Given the description of an element on the screen output the (x, y) to click on. 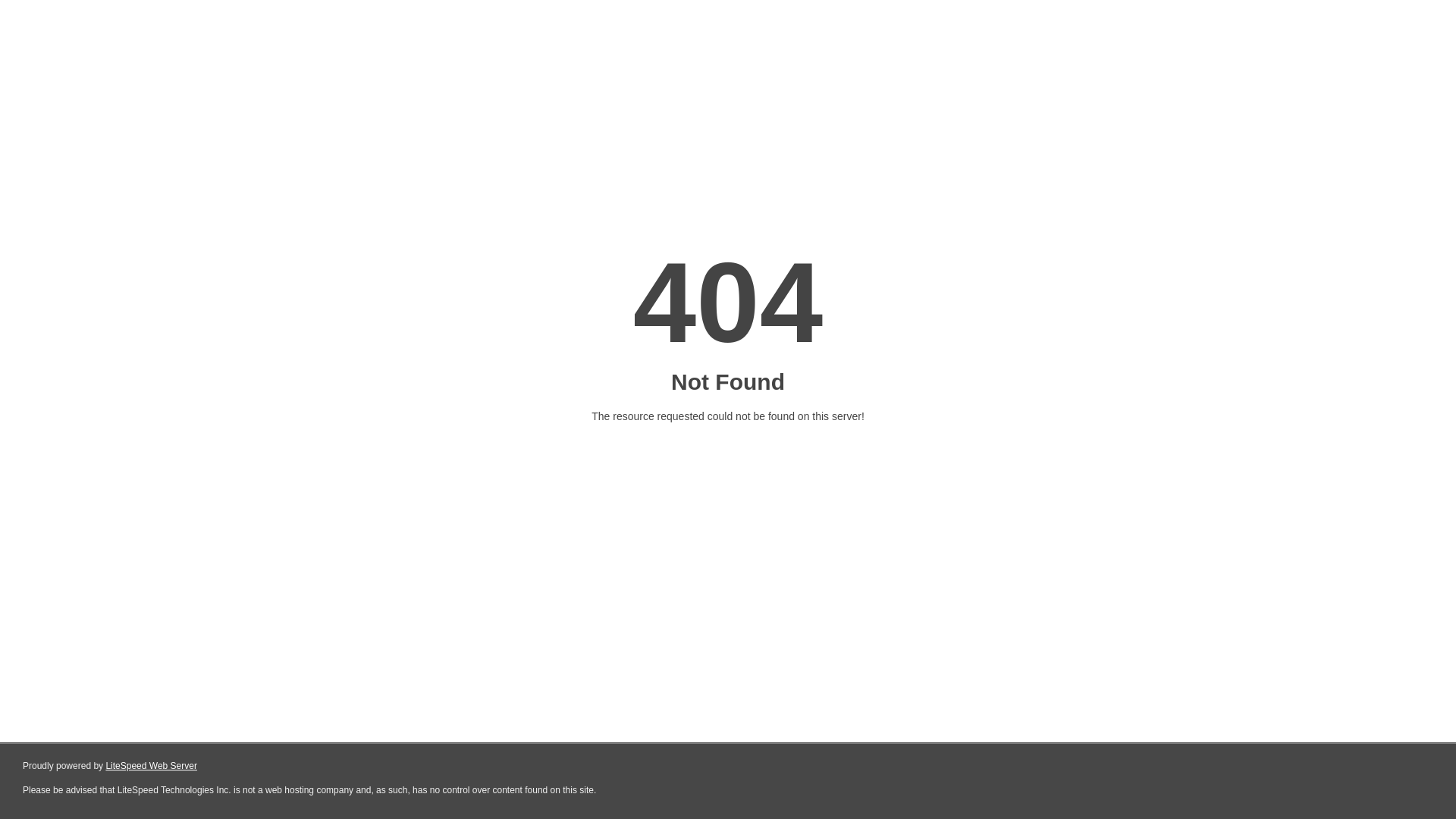
LiteSpeed Web Server Element type: text (151, 765)
